Given the description of an element on the screen output the (x, y) to click on. 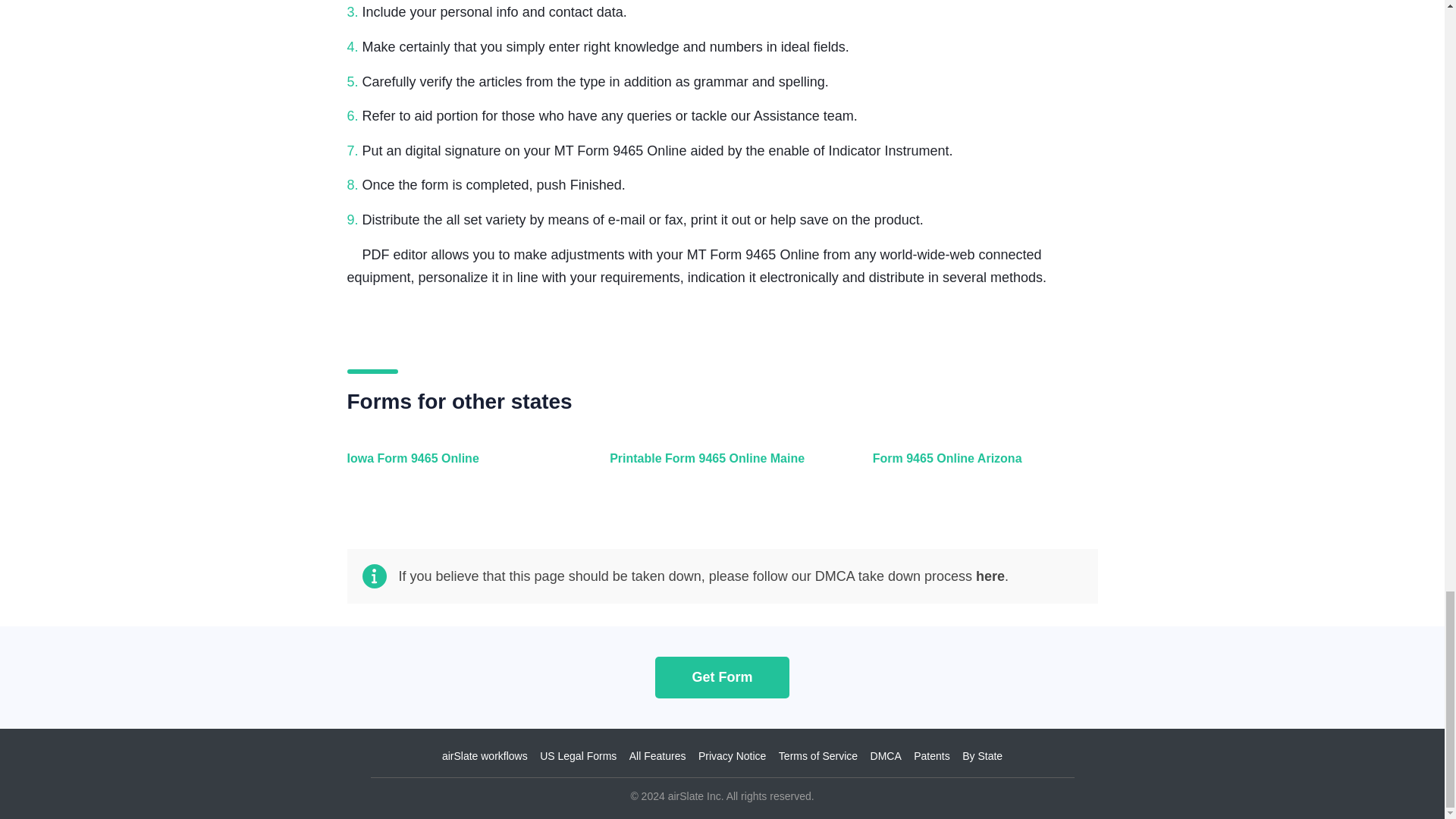
Iowa Form 9465 Online (456, 466)
Printable Form 9465 Online Maine (718, 466)
Patents (931, 756)
US Legal Forms (577, 756)
Terms of Service (817, 756)
DMCA (885, 756)
here (989, 575)
All Features (656, 756)
Form 9465 Online Arizona (981, 466)
By State (982, 756)
Get Form (722, 676)
airSlate workflows (484, 756)
Privacy Notice (731, 756)
